Given the description of an element on the screen output the (x, y) to click on. 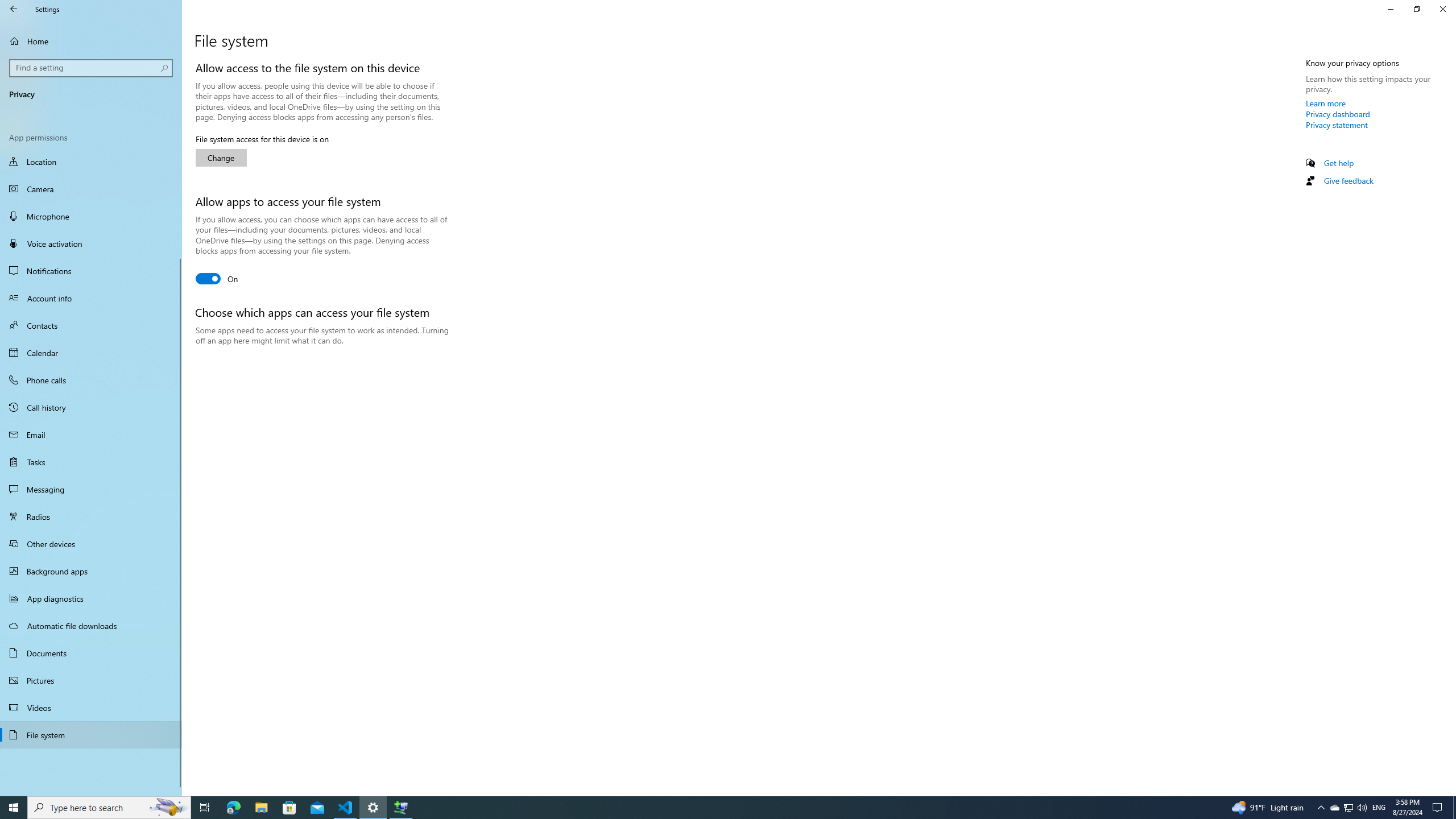
Pictures (91, 679)
Messaging (91, 488)
Notifications (91, 270)
Microphone (91, 216)
Privacy dashboard (1338, 113)
Voice activation (91, 243)
Videos (91, 707)
Camera (91, 188)
Allow apps to access your file system (216, 278)
Radios (91, 515)
